Given the description of an element on the screen output the (x, y) to click on. 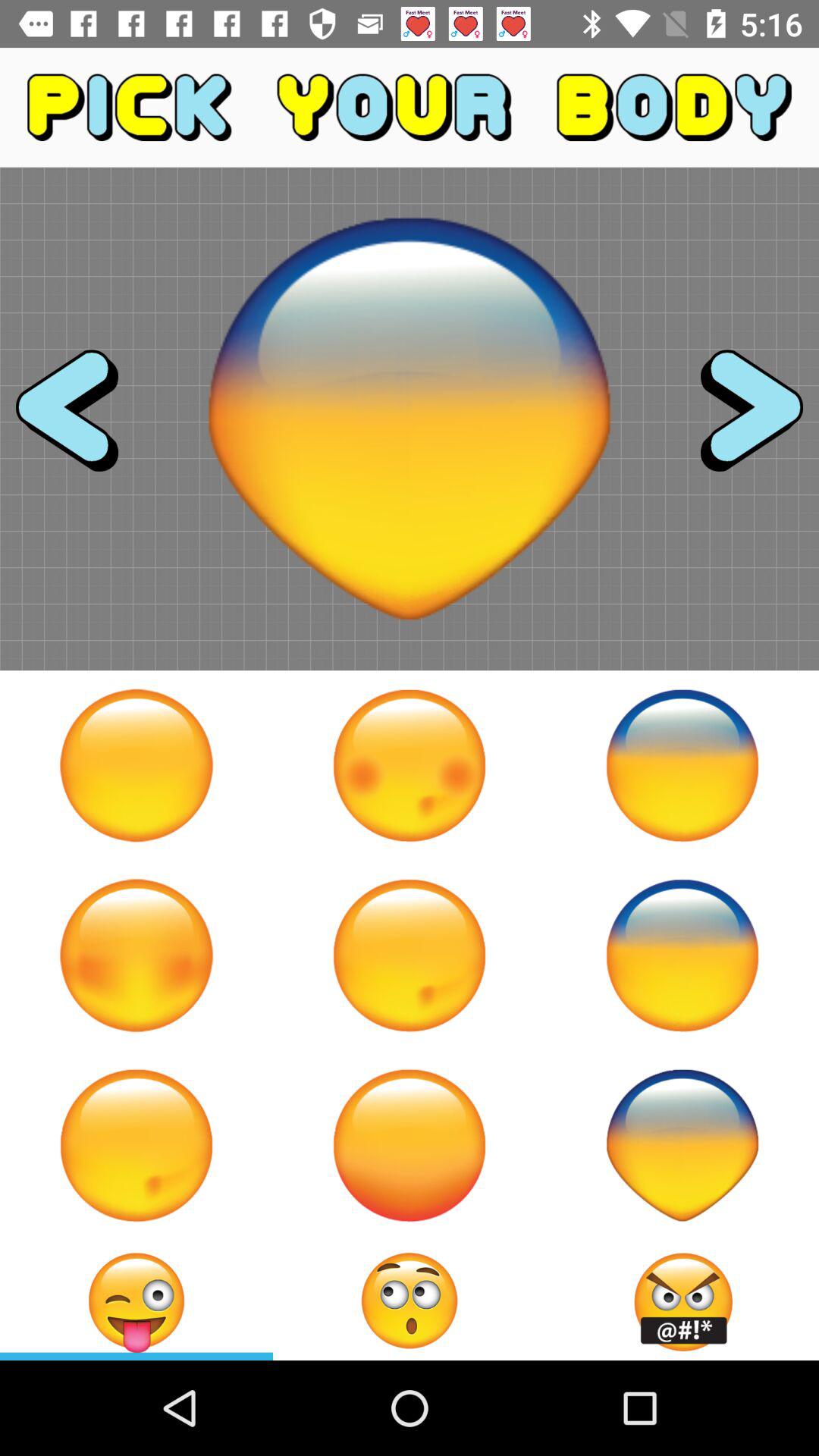
pick you body click first image (136, 765)
